Given the description of an element on the screen output the (x, y) to click on. 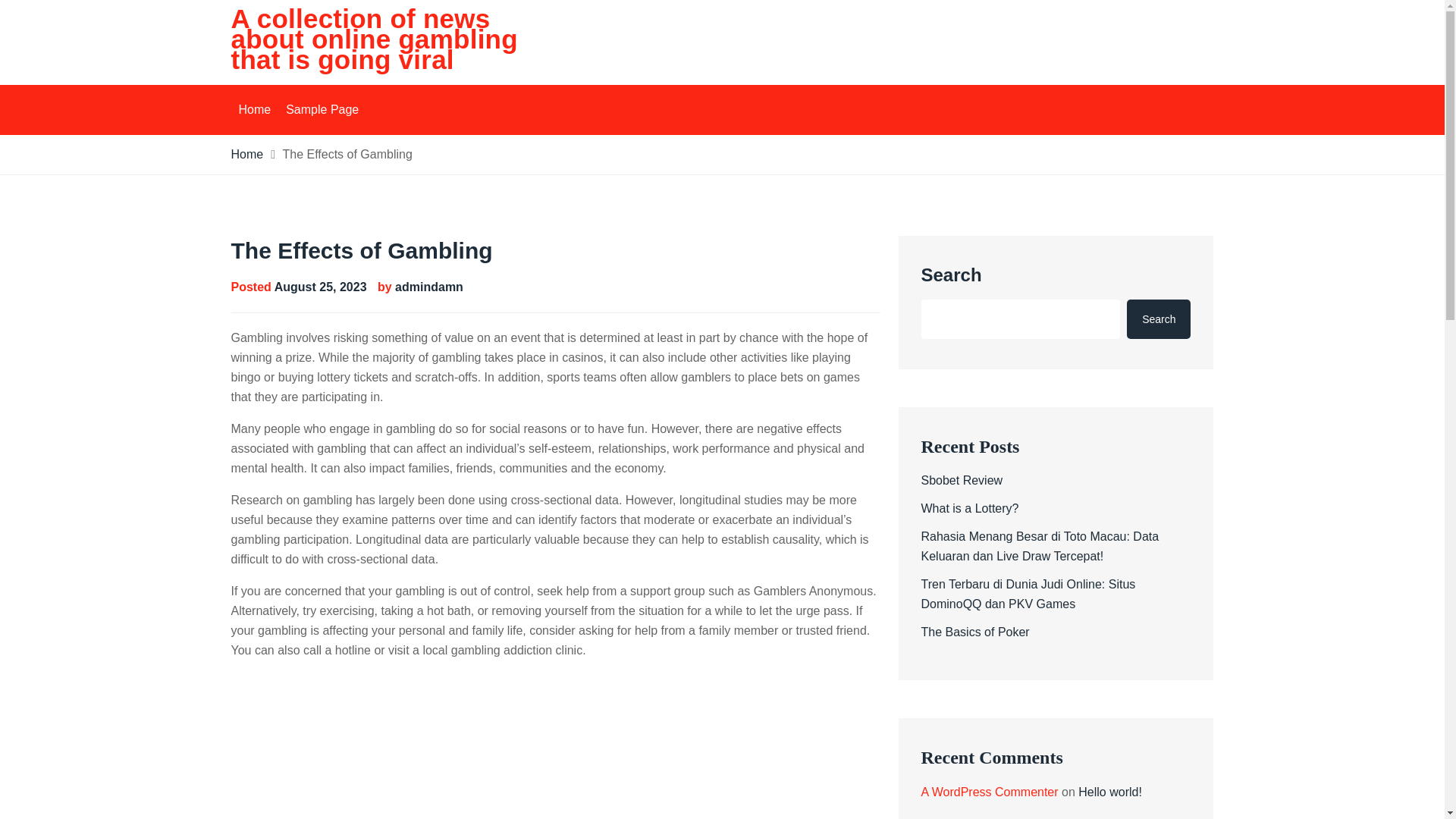
Search (1158, 319)
The Basics of Poker (974, 631)
admindamn (428, 286)
Home (254, 110)
Home (246, 154)
Hello world! (1109, 791)
A WordPress Commenter (989, 791)
Sbobet Review (961, 480)
What is a Lottery? (968, 508)
Sample Page (322, 110)
August 25, 2023 (320, 286)
